Given the description of an element on the screen output the (x, y) to click on. 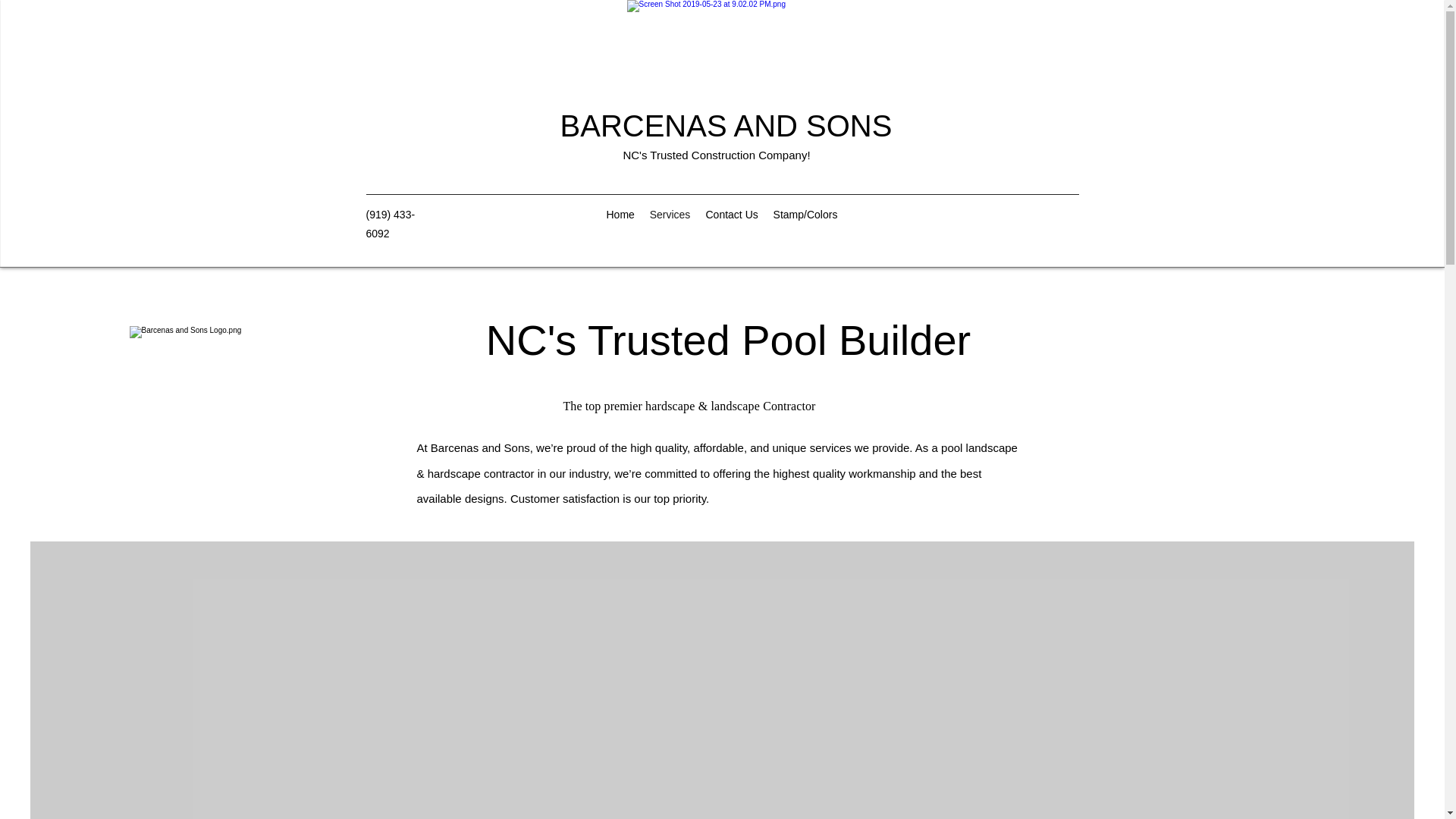
Services (669, 214)
Contact Us (731, 214)
Home (620, 214)
BARCENAS AND SONS (726, 125)
